Given the description of an element on the screen output the (x, y) to click on. 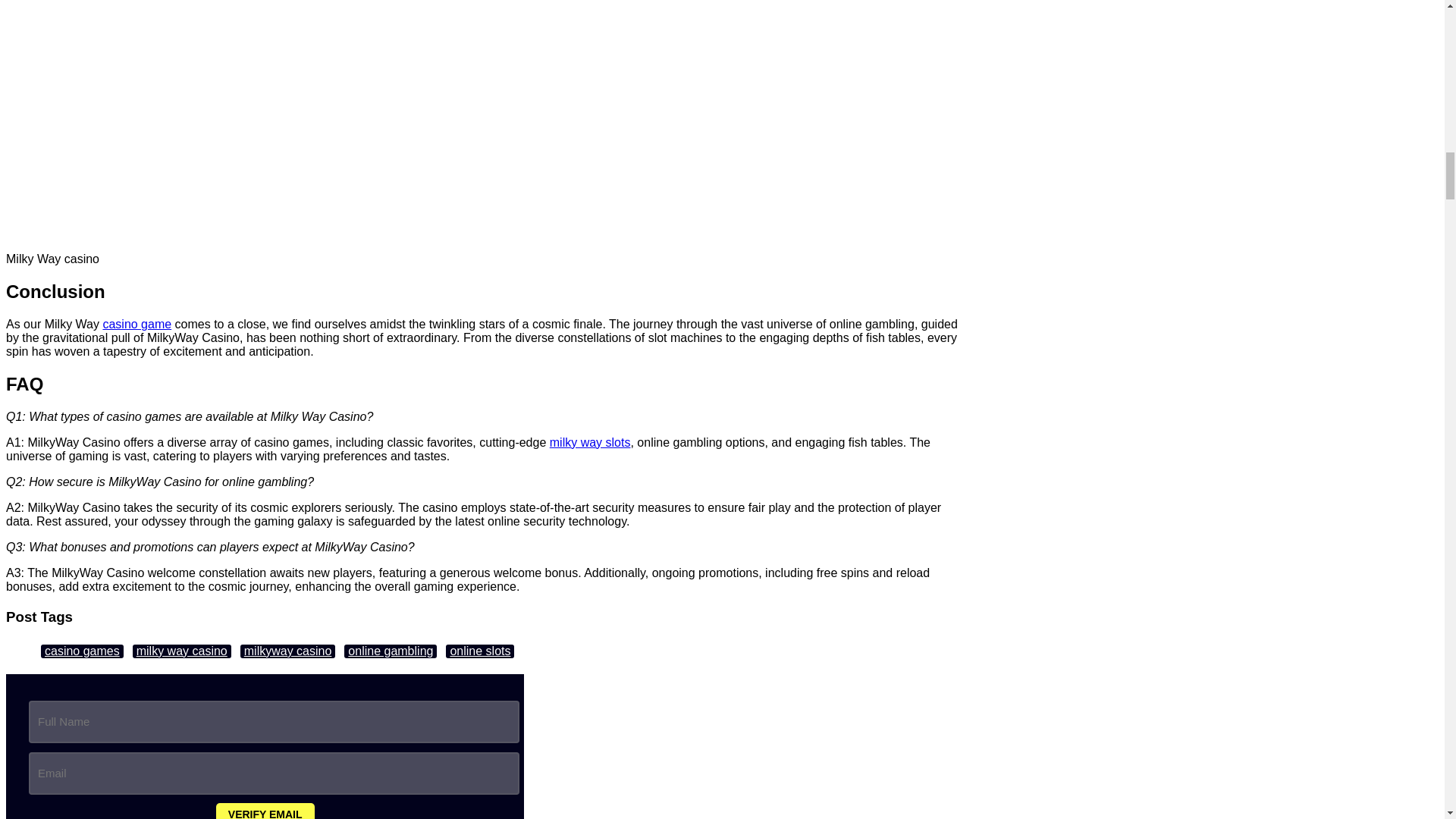
online gambling (389, 650)
milky way slots (590, 441)
online slots (479, 650)
casino games (81, 650)
milkyway casino (288, 650)
milky way casino (181, 650)
casino game (136, 323)
